Given the description of an element on the screen output the (x, y) to click on. 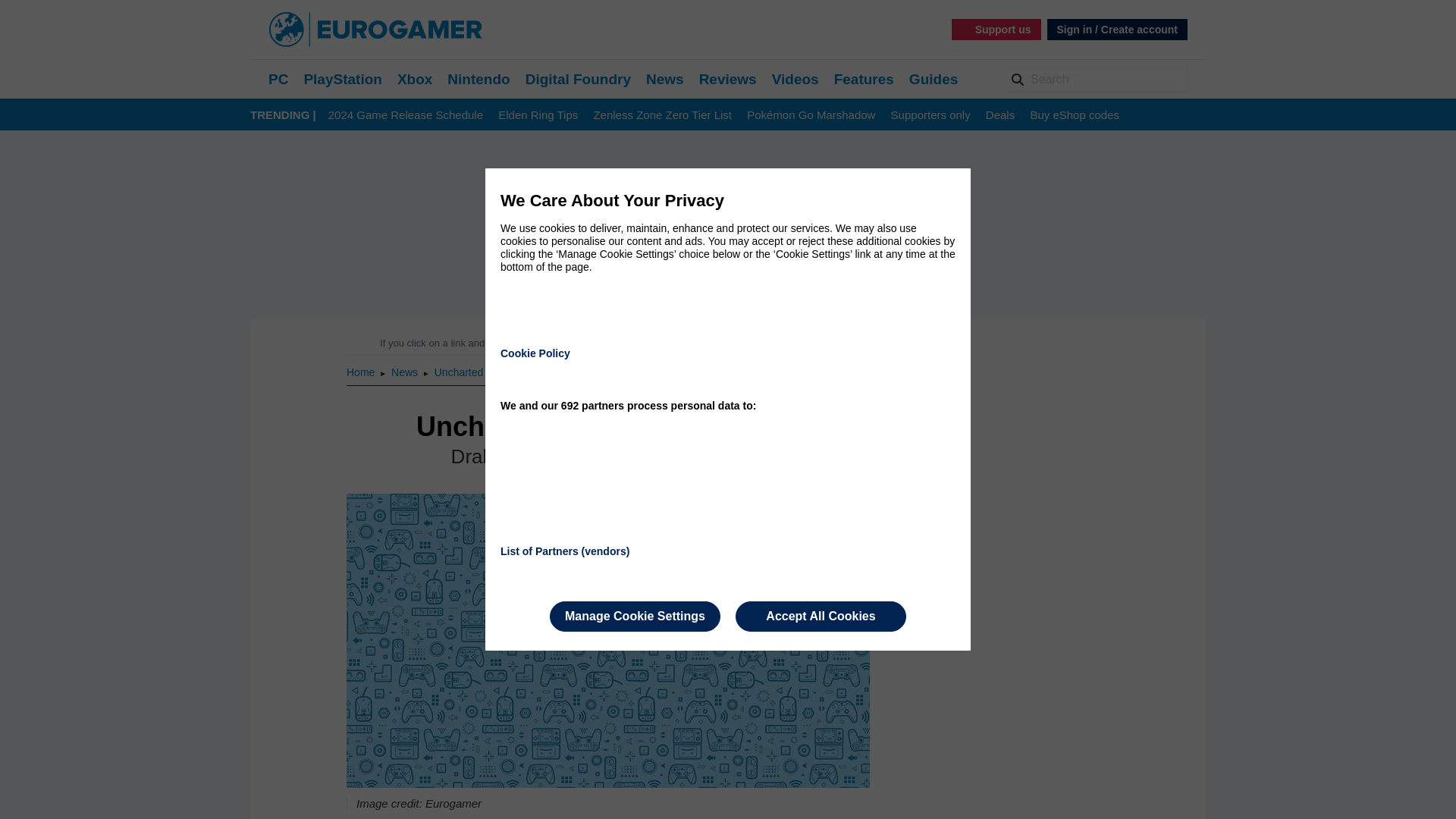
Supporters only (931, 114)
Supporters only (931, 114)
Nintendo (477, 78)
Uncharted 2: Among Thieves (501, 372)
Home (361, 372)
Read our editorial policy (781, 342)
News (665, 78)
News (405, 372)
Deals (999, 114)
Home (361, 372)
Guides (933, 78)
PlayStation (341, 78)
PlayStation (341, 78)
Buy eShop codes (1074, 114)
Deals (999, 114)
